Given the description of an element on the screen output the (x, y) to click on. 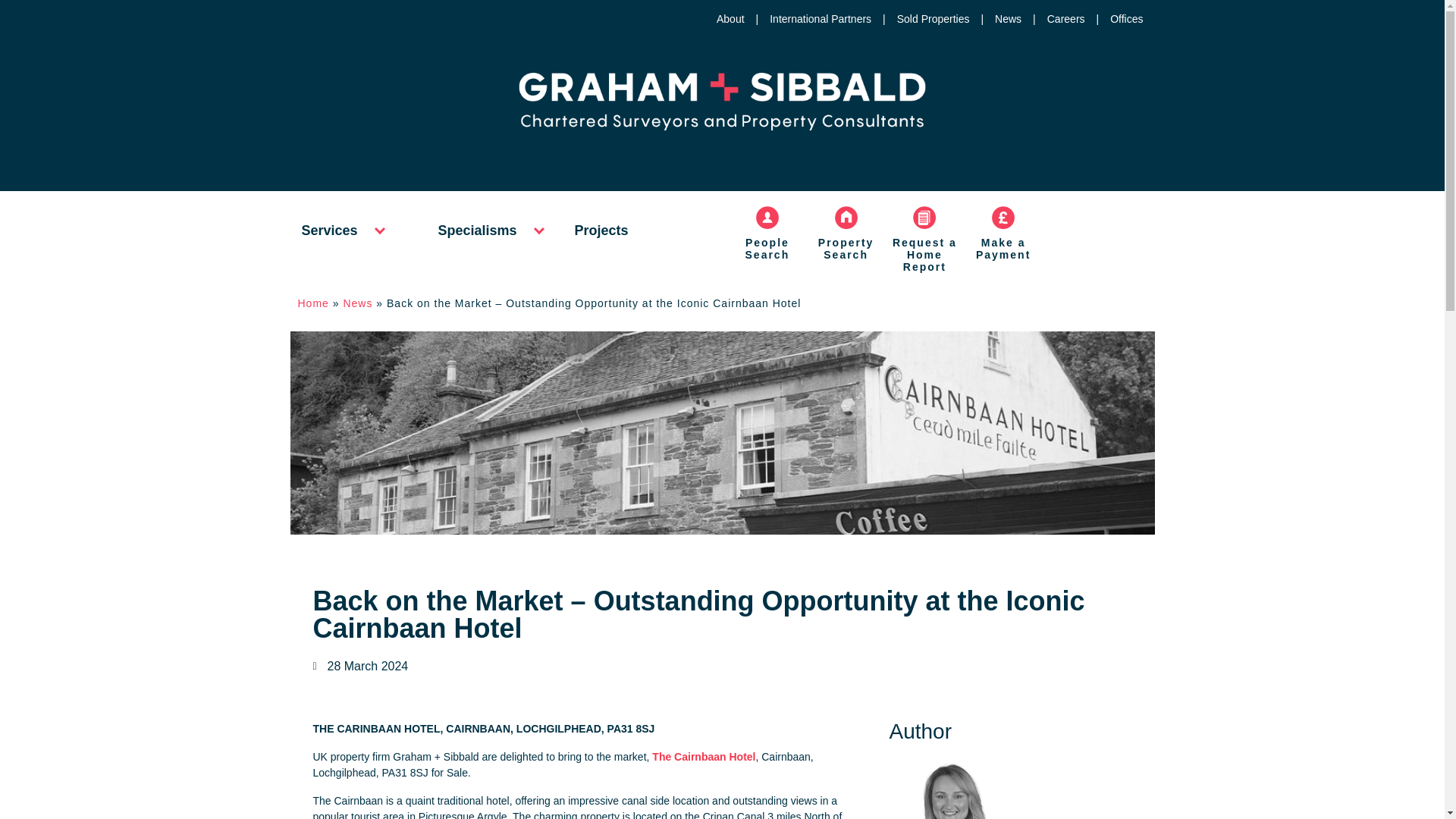
Offices (1120, 19)
Sold Properties (927, 19)
Careers (1059, 19)
Services (329, 230)
International Partners (814, 19)
About (724, 19)
Specialisms (477, 230)
News (1003, 19)
